Given the description of an element on the screen output the (x, y) to click on. 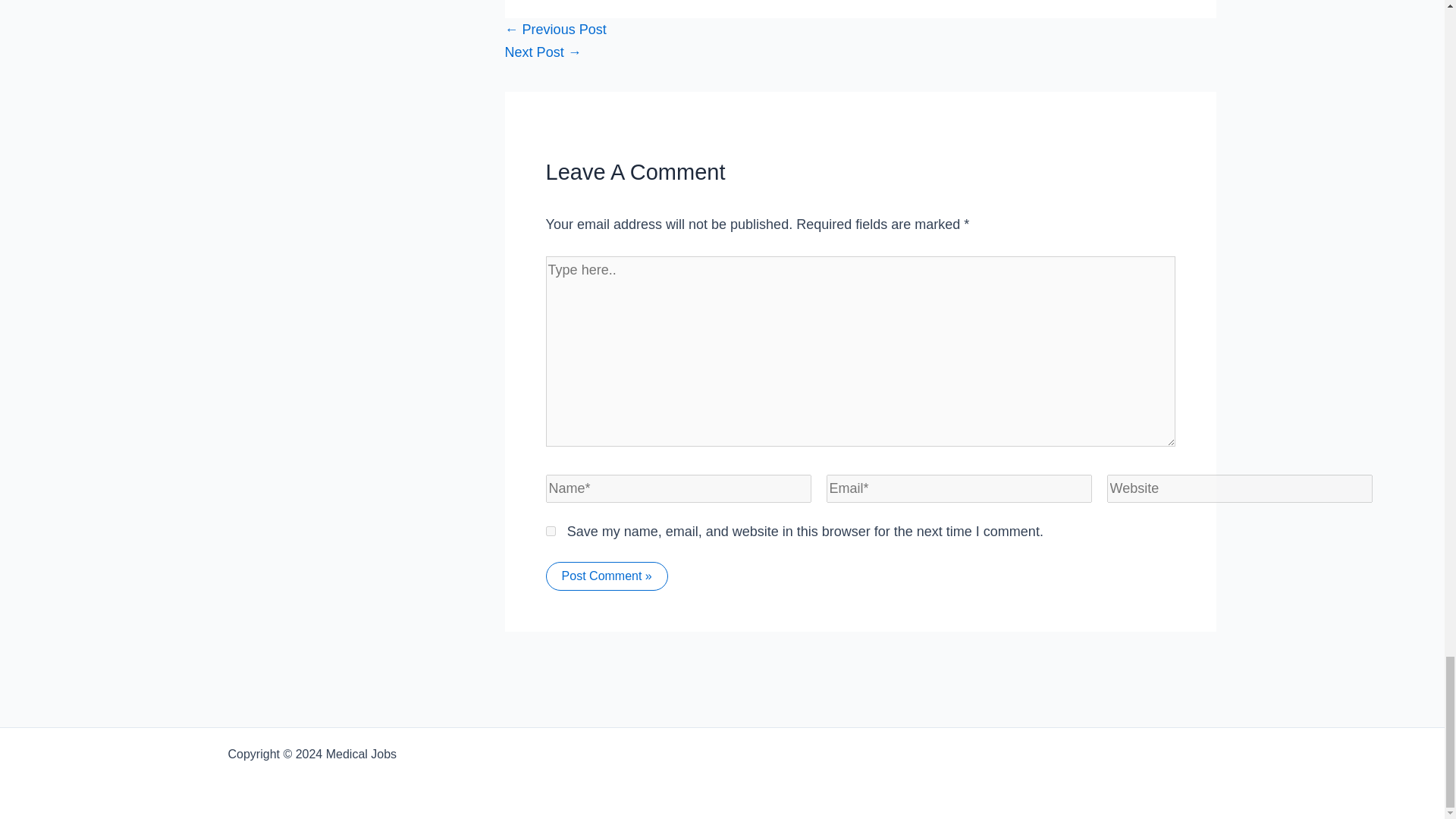
yes (551, 531)
Nutrition Officer - Islamic Relief Vacancy Announcement (556, 29)
